Given the description of an element on the screen output the (x, y) to click on. 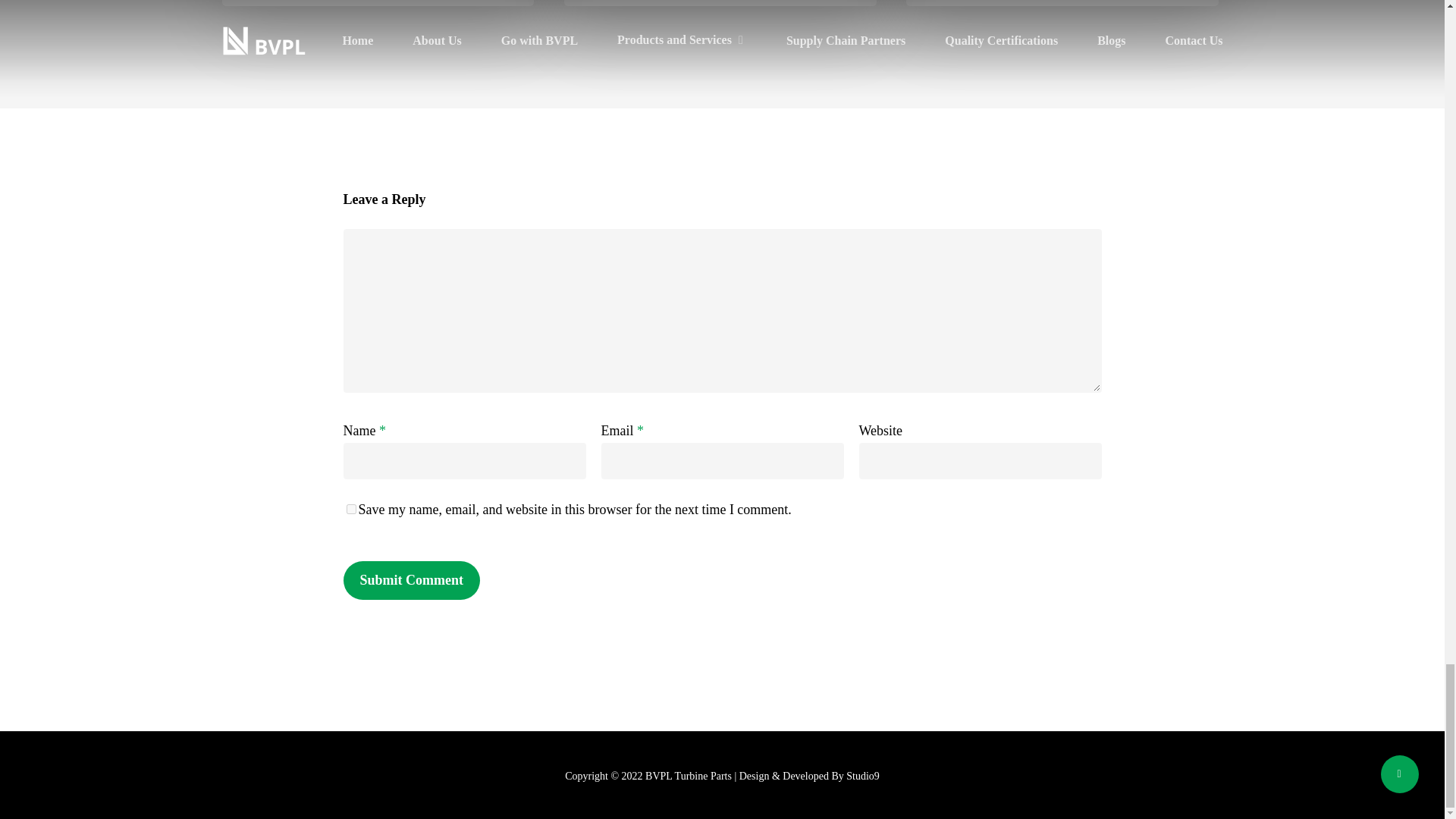
Submit Comment (411, 580)
yes (350, 509)
